Given the description of an element on the screen output the (x, y) to click on. 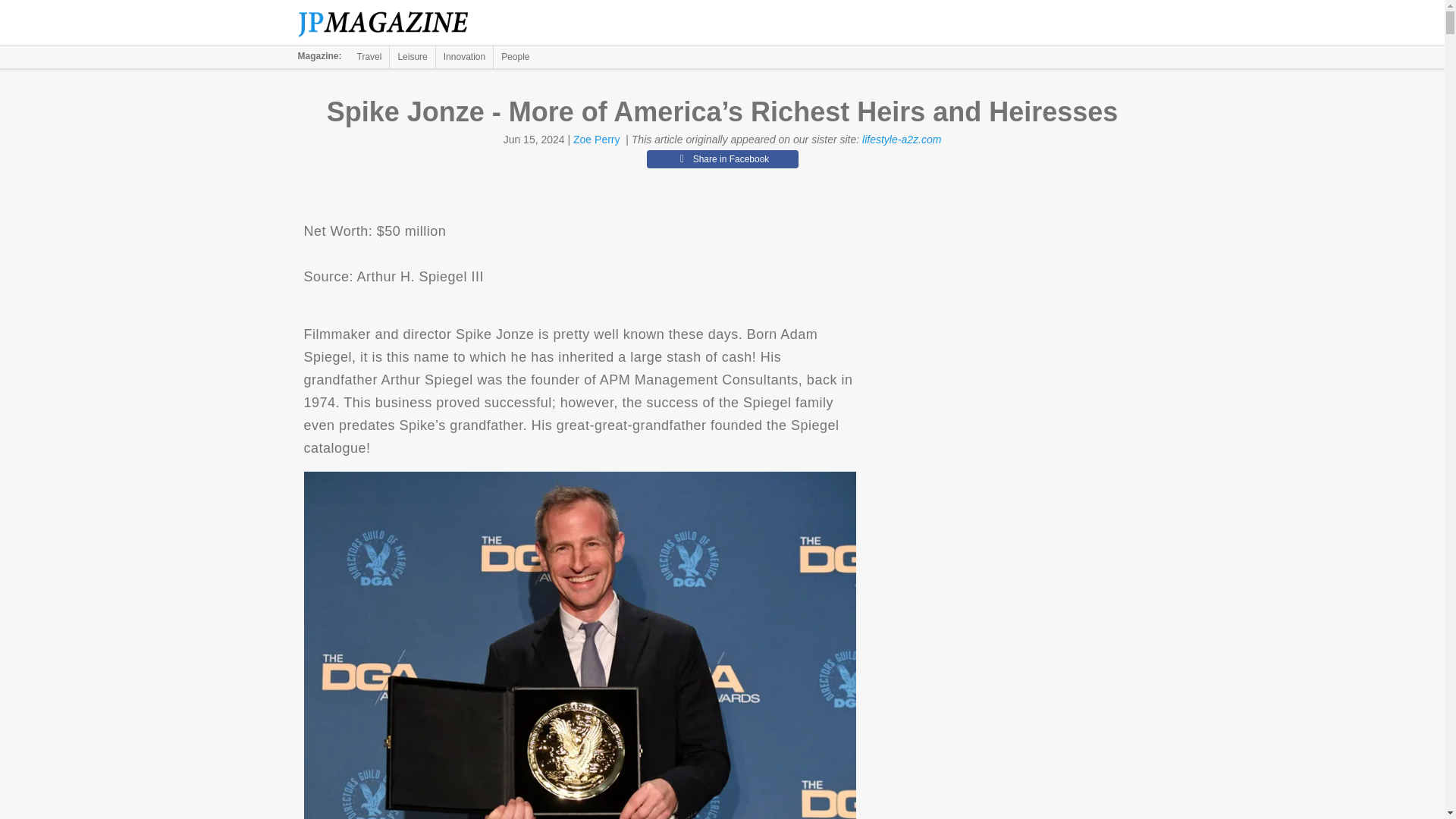
Leisure (411, 56)
Share in Facebook (721, 158)
lifestyle-a2z.com (900, 139)
The Jerusalem Post Magazine (391, 22)
Zoe Perry (596, 139)
People (515, 56)
Innovation (464, 56)
Travel (369, 56)
